Given the description of an element on the screen output the (x, y) to click on. 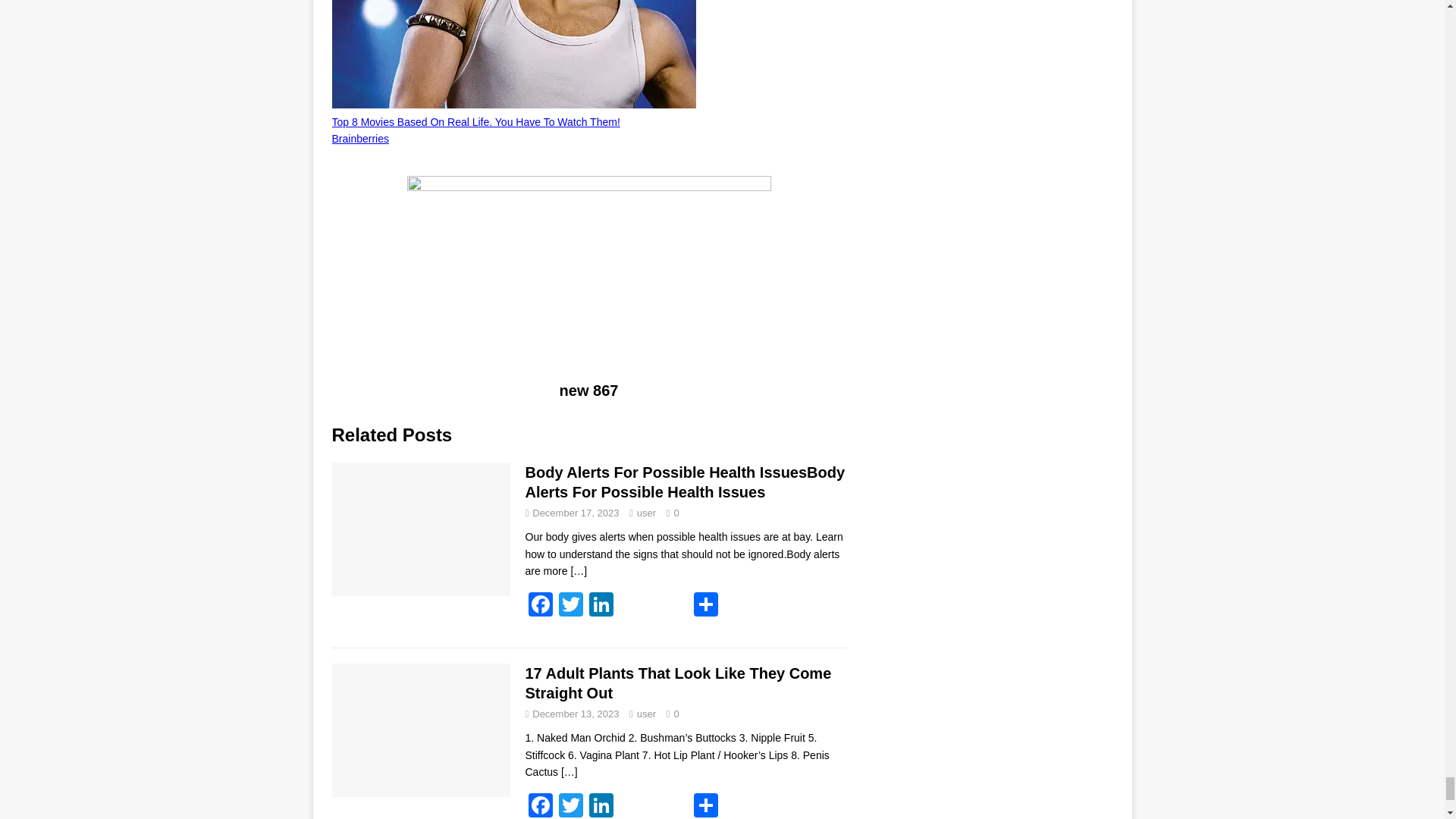
17 Adult Plants That Look Like They Come Straight Out (569, 771)
Twitter (569, 806)
Facebook (539, 806)
Twitter (569, 605)
LinkedIn (600, 806)
new 867 (588, 390)
LinkedIn (600, 605)
Facebook (539, 605)
user (646, 512)
Facebook (539, 605)
new 867 (588, 278)
